Given the description of an element on the screen output the (x, y) to click on. 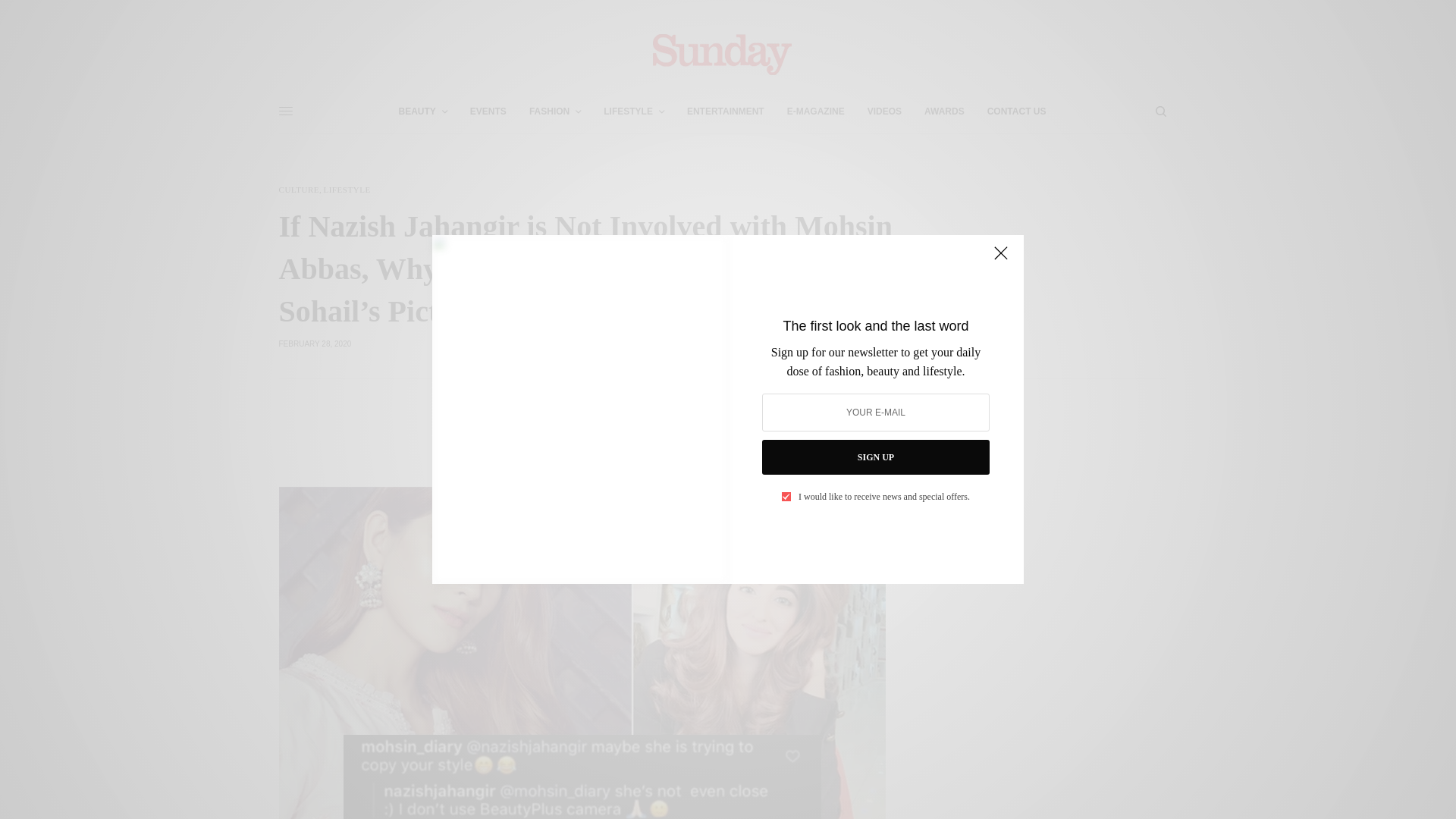
CONTACT US (1016, 110)
BEAUTY (422, 110)
ENTERTAINMENT (725, 110)
SIGN UP (875, 457)
CULTURE (299, 189)
E-MAGAZINE (815, 110)
LIFESTYLE (633, 110)
FASHION (554, 110)
LIFESTYLE (346, 189)
Sunday (722, 53)
